Given the description of an element on the screen output the (x, y) to click on. 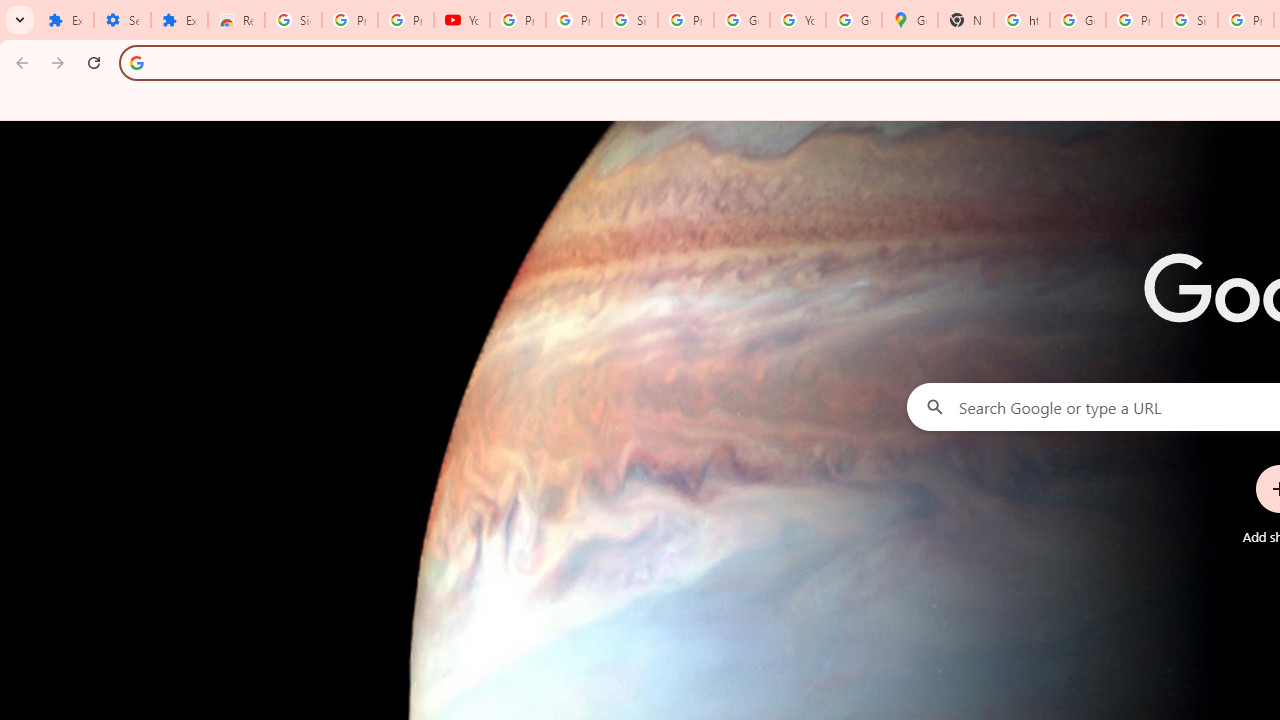
Extensions (65, 20)
YouTube (461, 20)
New Tab (966, 20)
Reviews: Helix Fruit Jump Arcade Game (235, 20)
Extensions (179, 20)
